Given the description of an element on the screen output the (x, y) to click on. 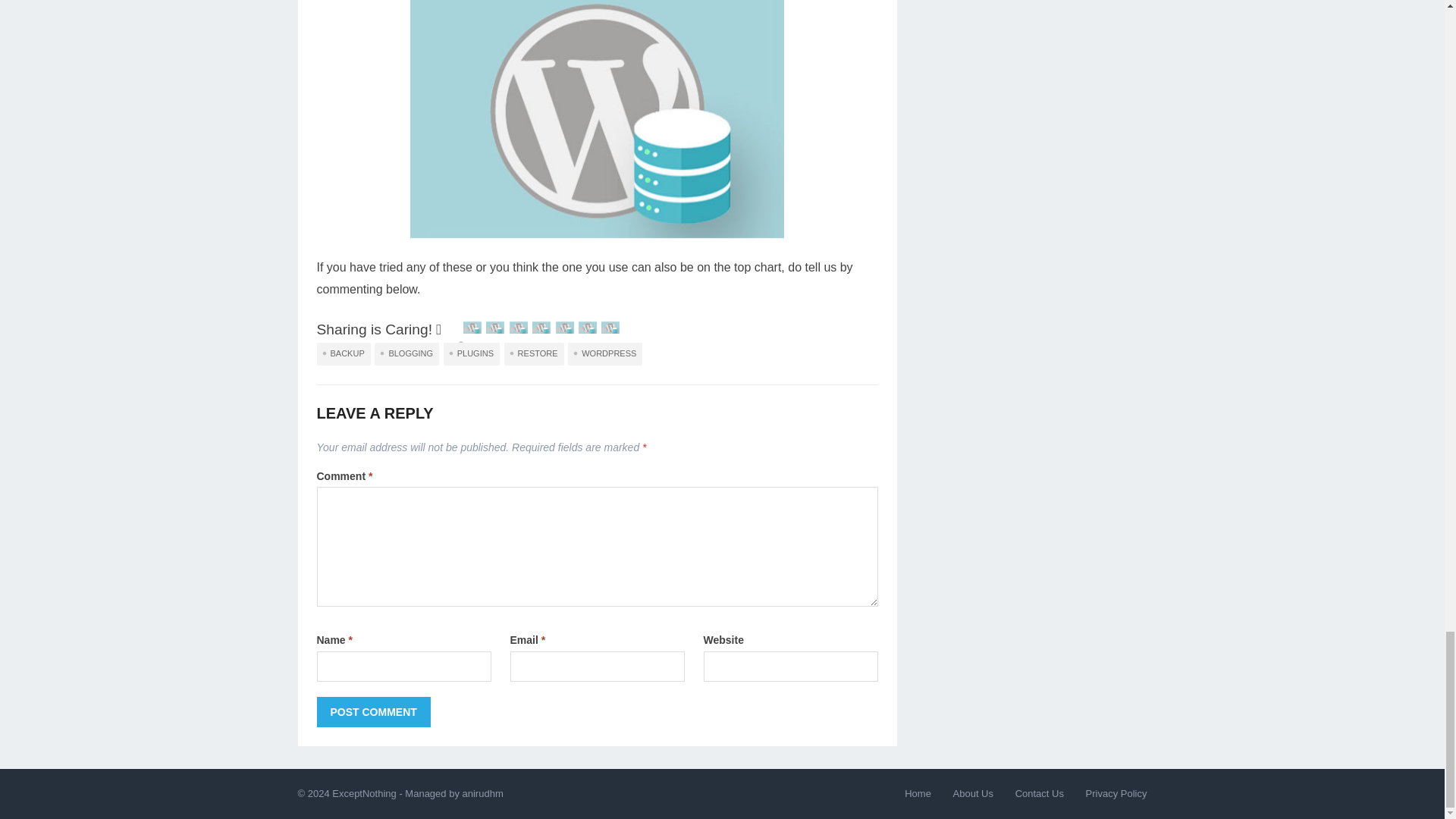
PLUGINS (471, 354)
Share via Twitter (518, 328)
BACKUP (344, 354)
Share via StumbleUpon (541, 328)
BLOGGING (406, 354)
Share via Google (494, 328)
Post Comment (373, 711)
RESTORE (533, 354)
Post Comment (373, 711)
Share via LinkedIn (564, 328)
